Given the description of an element on the screen output the (x, y) to click on. 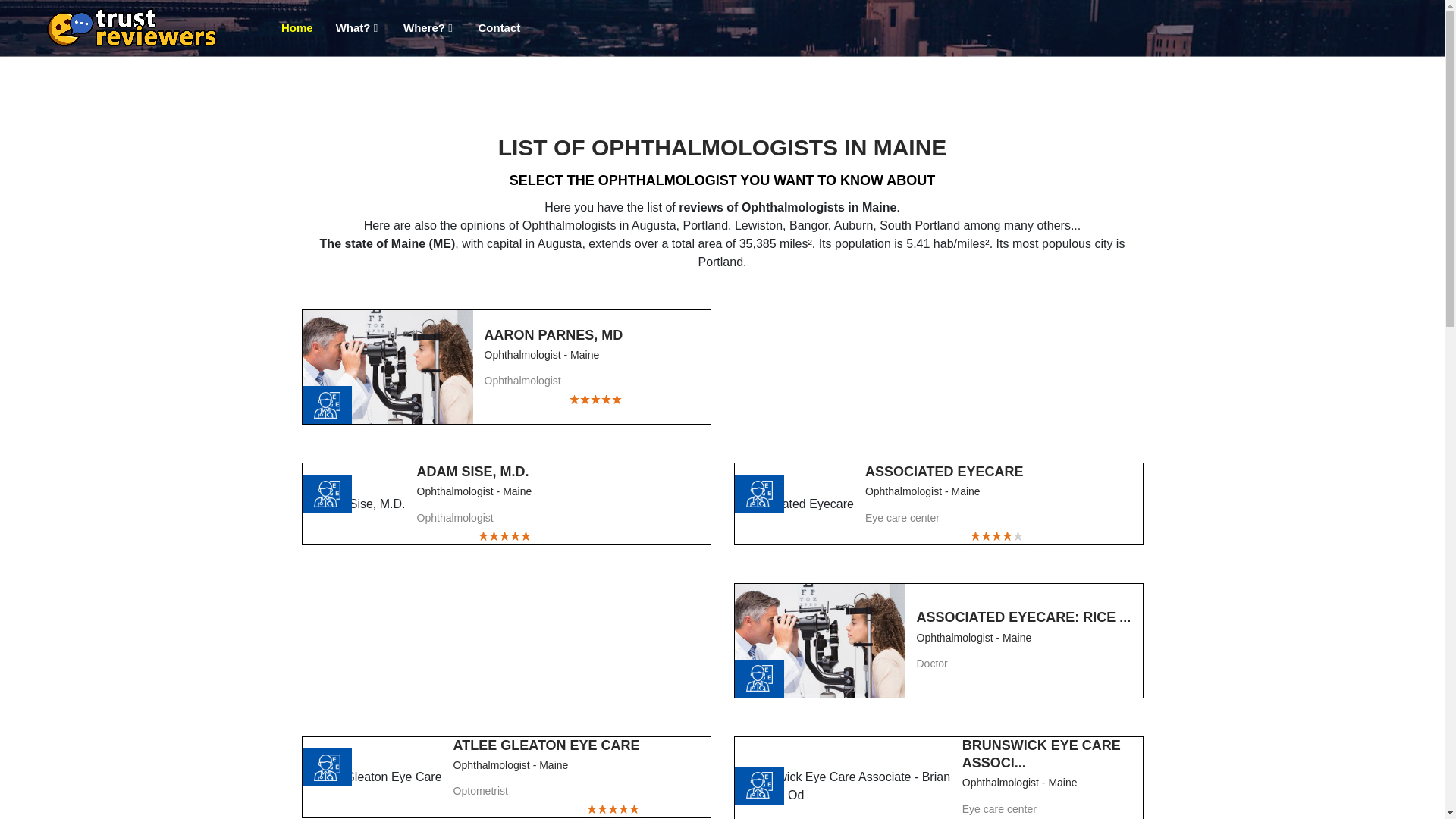
What? (357, 28)
